Given the description of an element on the screen output the (x, y) to click on. 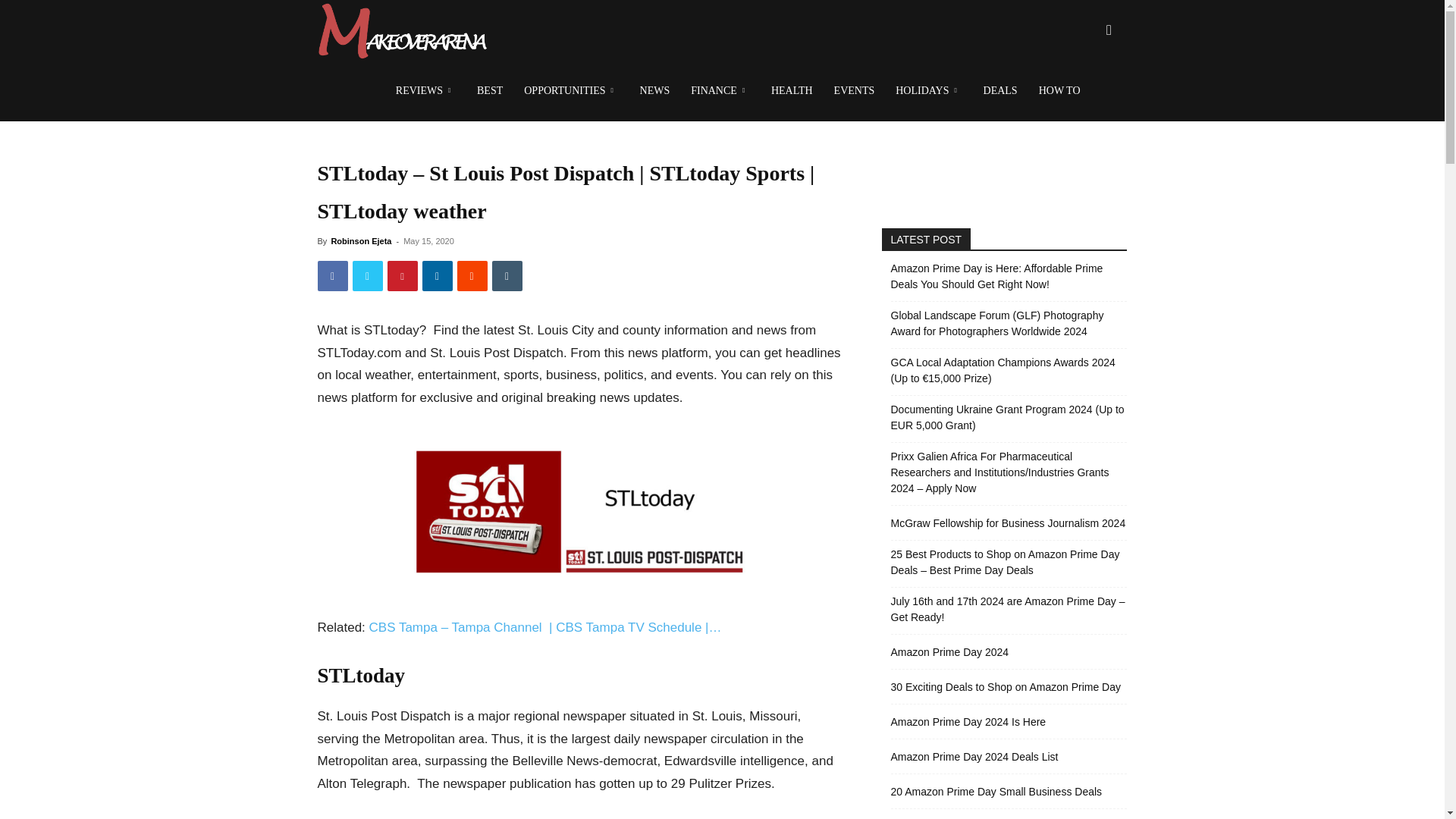
Linkedin (436, 276)
Tumblr (506, 276)
Facebook (332, 276)
Pinterest (401, 276)
ReddIt (471, 276)
Twitter (366, 276)
